Given the description of an element on the screen output the (x, y) to click on. 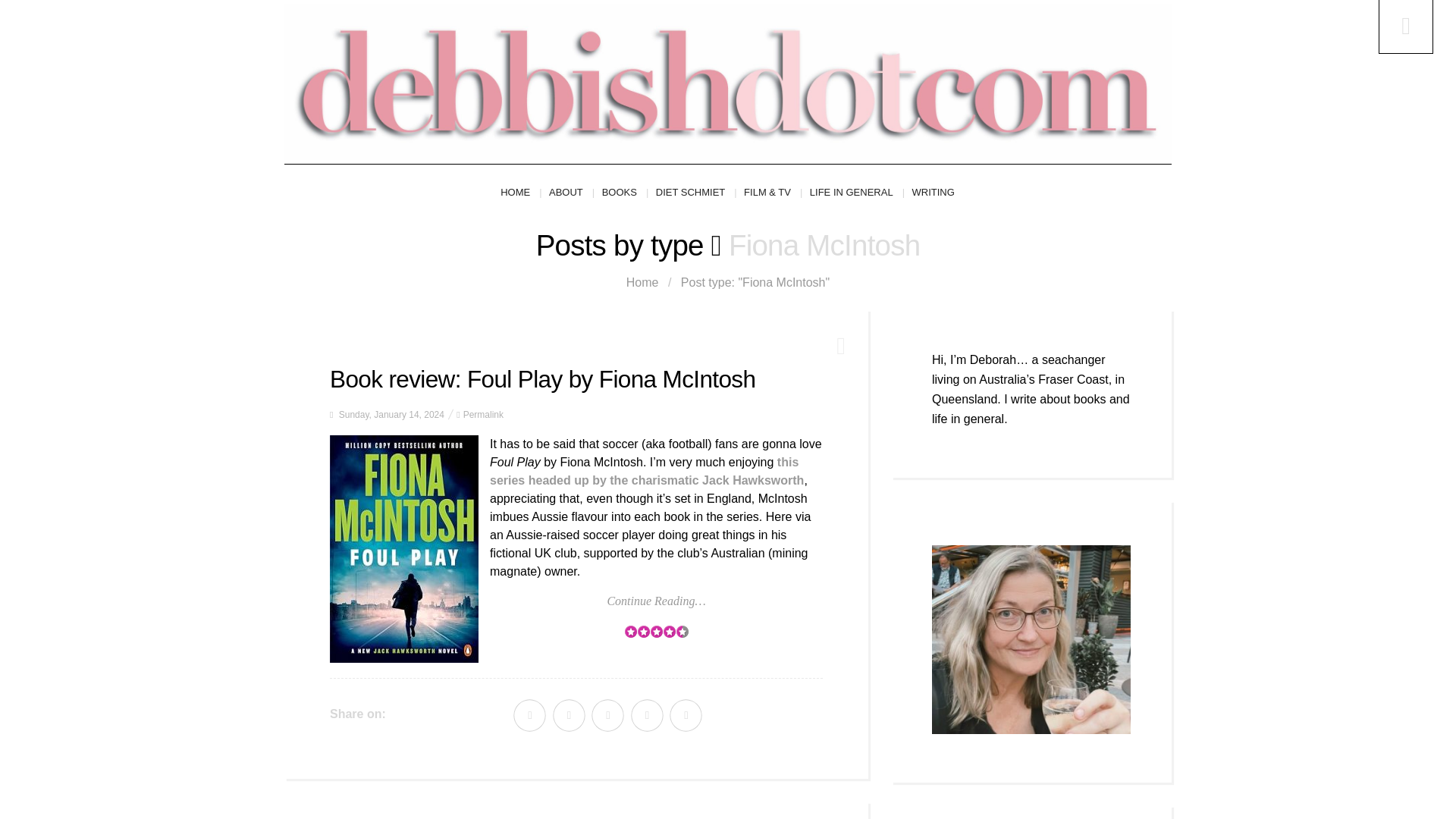
Permalink Book review: Foul Play by Fiona McIntosh (542, 379)
BOOKS (624, 192)
Permalink Book review: Foul Play by Fiona McIntosh (483, 414)
this series headed up by the charismatic Jack Hawksworth (646, 470)
DIET SCHMIET (695, 192)
Home (642, 282)
About me (1031, 639)
Permalink (483, 414)
LIFE IN GENERAL (856, 192)
